Given the description of an element on the screen output the (x, y) to click on. 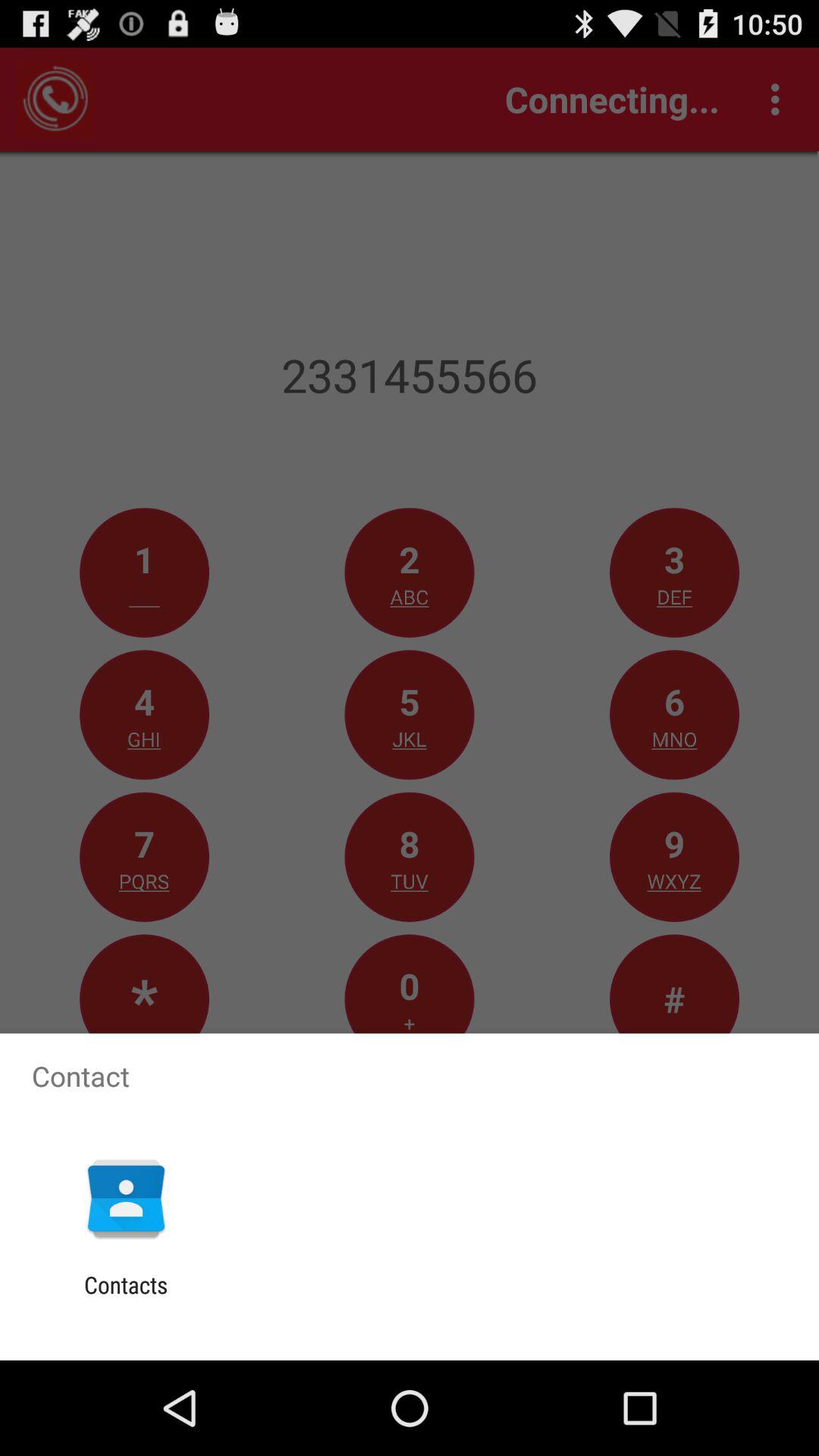
press the item above contacts icon (126, 1198)
